Given the description of an element on the screen output the (x, y) to click on. 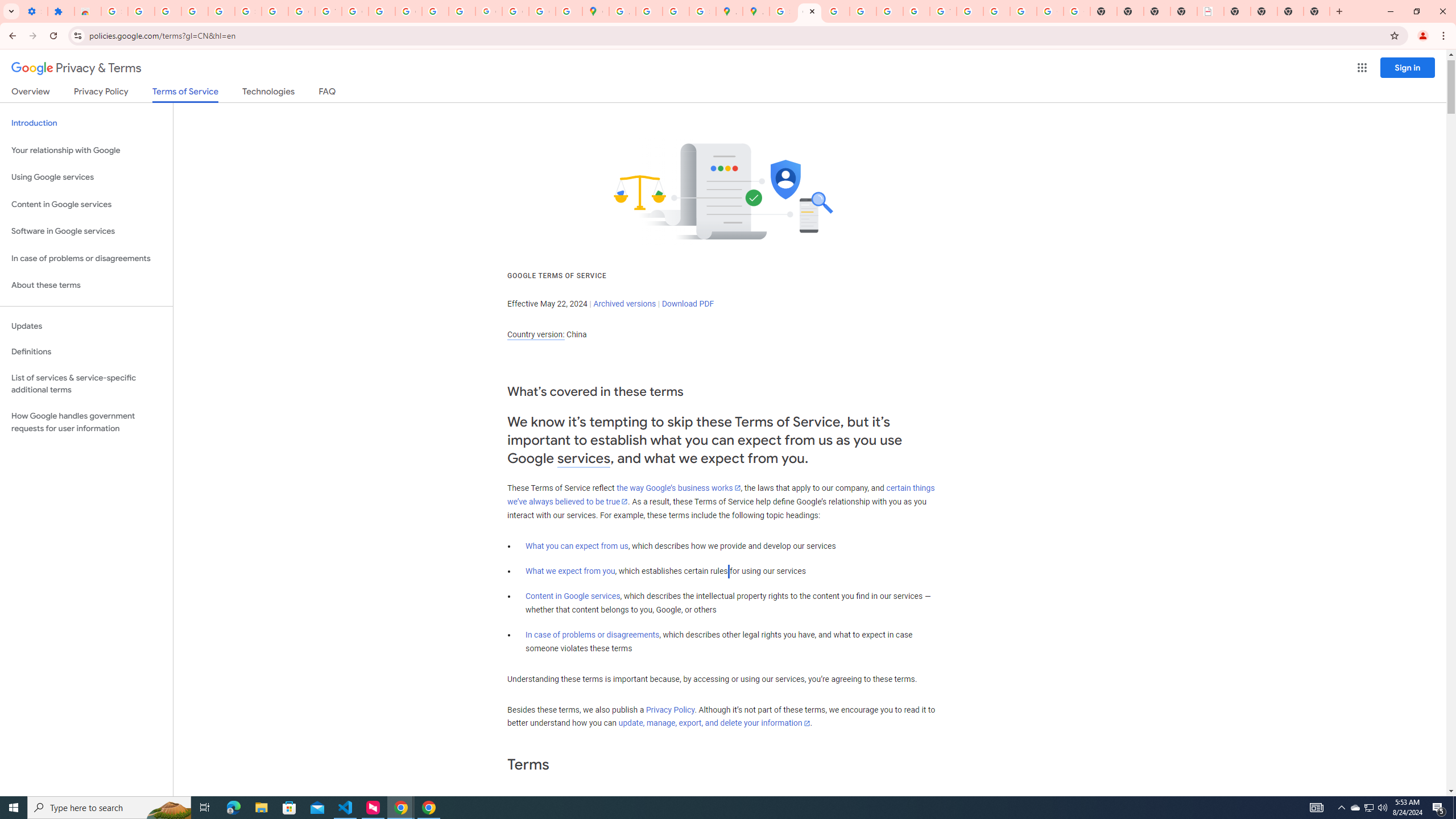
Sign in - Google Accounts (114, 11)
LAAD Defence & Security 2025 | BAE Systems (1210, 11)
YouTube (943, 11)
Sign in - Google Accounts (248, 11)
New Tab (1236, 11)
